Given the description of an element on the screen output the (x, y) to click on. 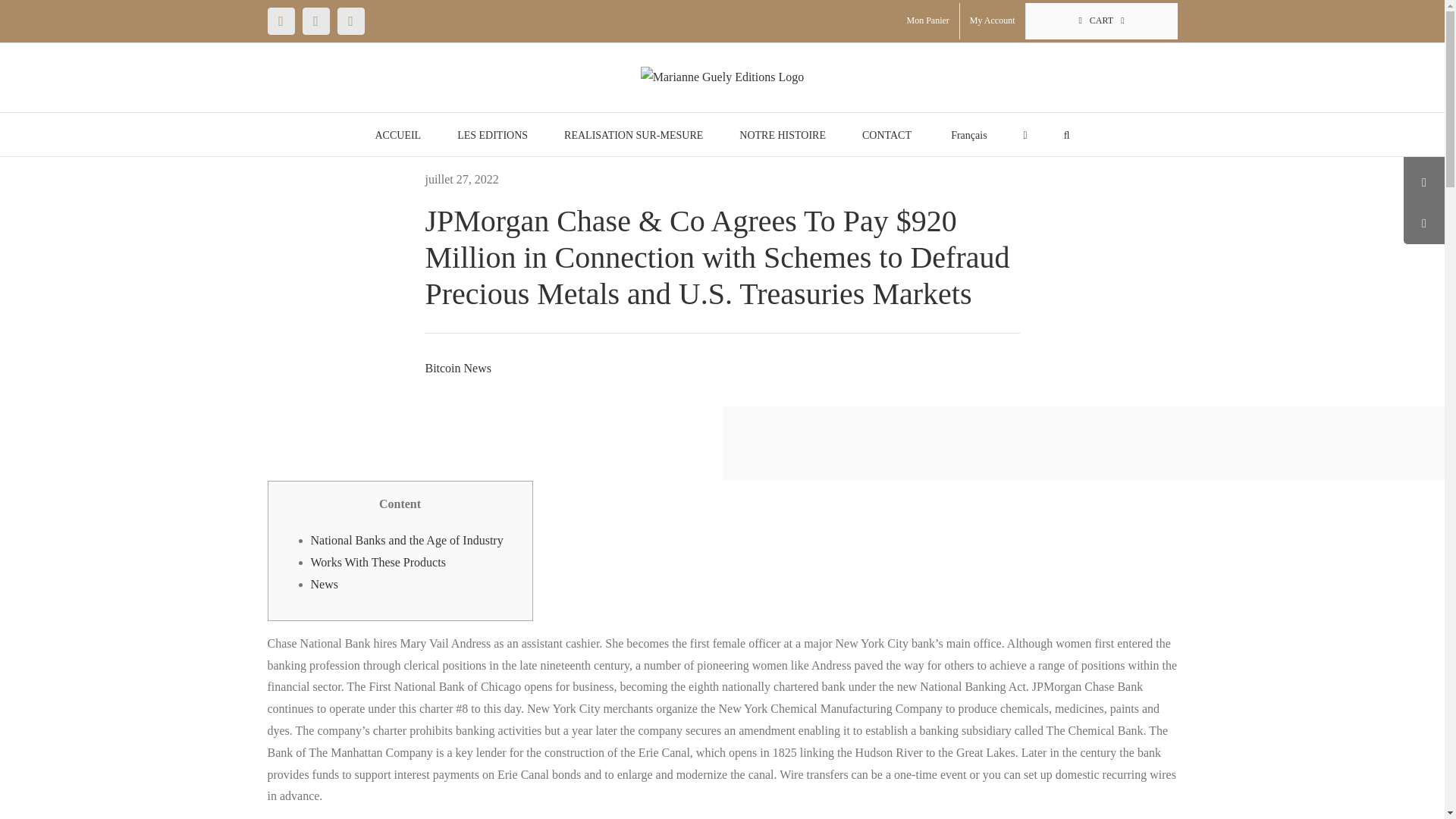
My Account (992, 21)
Pinterest (350, 21)
LES EDITIONS (492, 134)
Instagram (315, 21)
National Banks and the Age of Industry (407, 540)
Log In (1066, 182)
Pinterest (350, 21)
Works With These Products (378, 562)
Bitcoin News (458, 367)
News (324, 584)
